Given the description of an element on the screen output the (x, y) to click on. 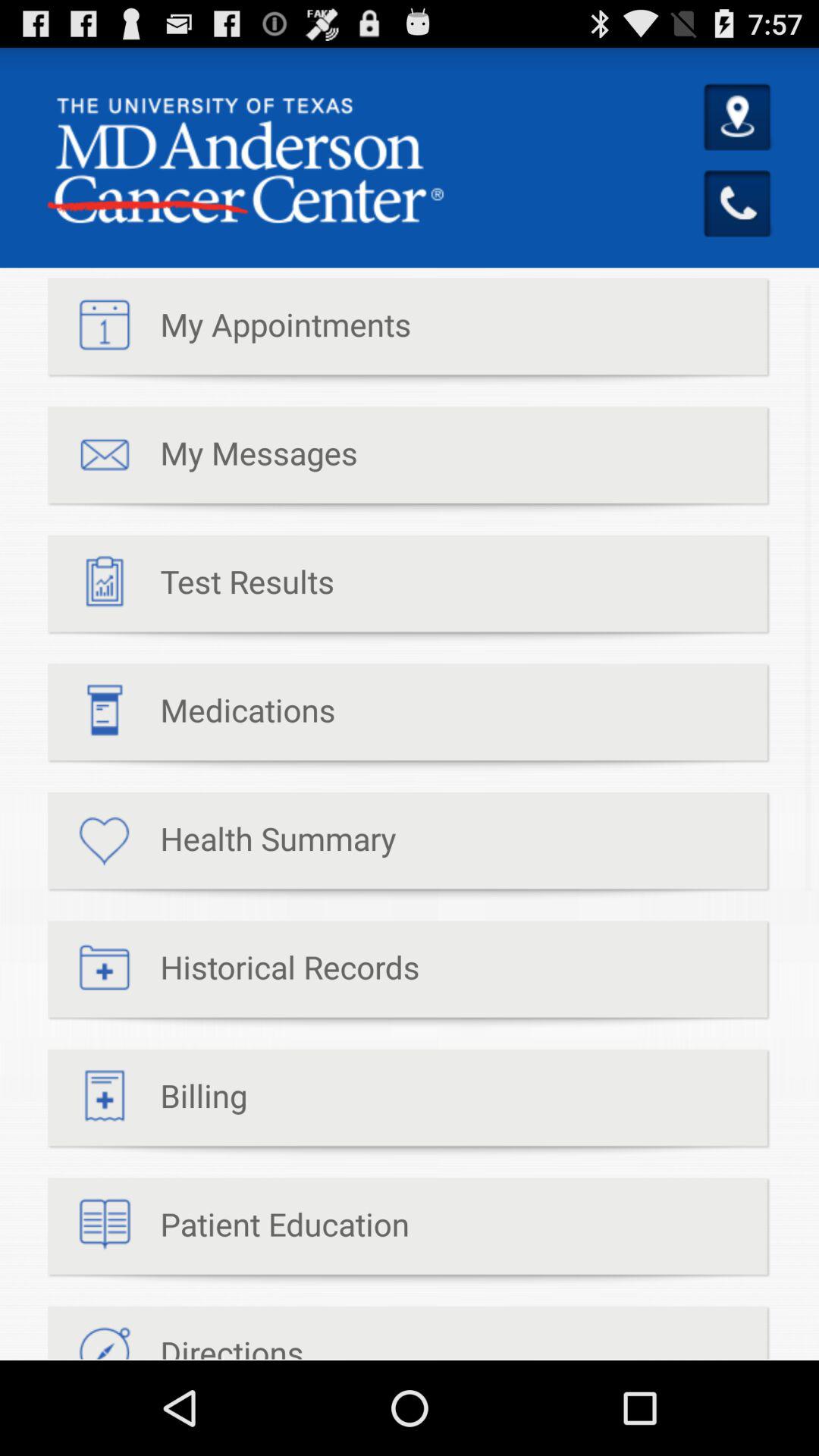
tap the icon below the patient education (175, 1333)
